Given the description of an element on the screen output the (x, y) to click on. 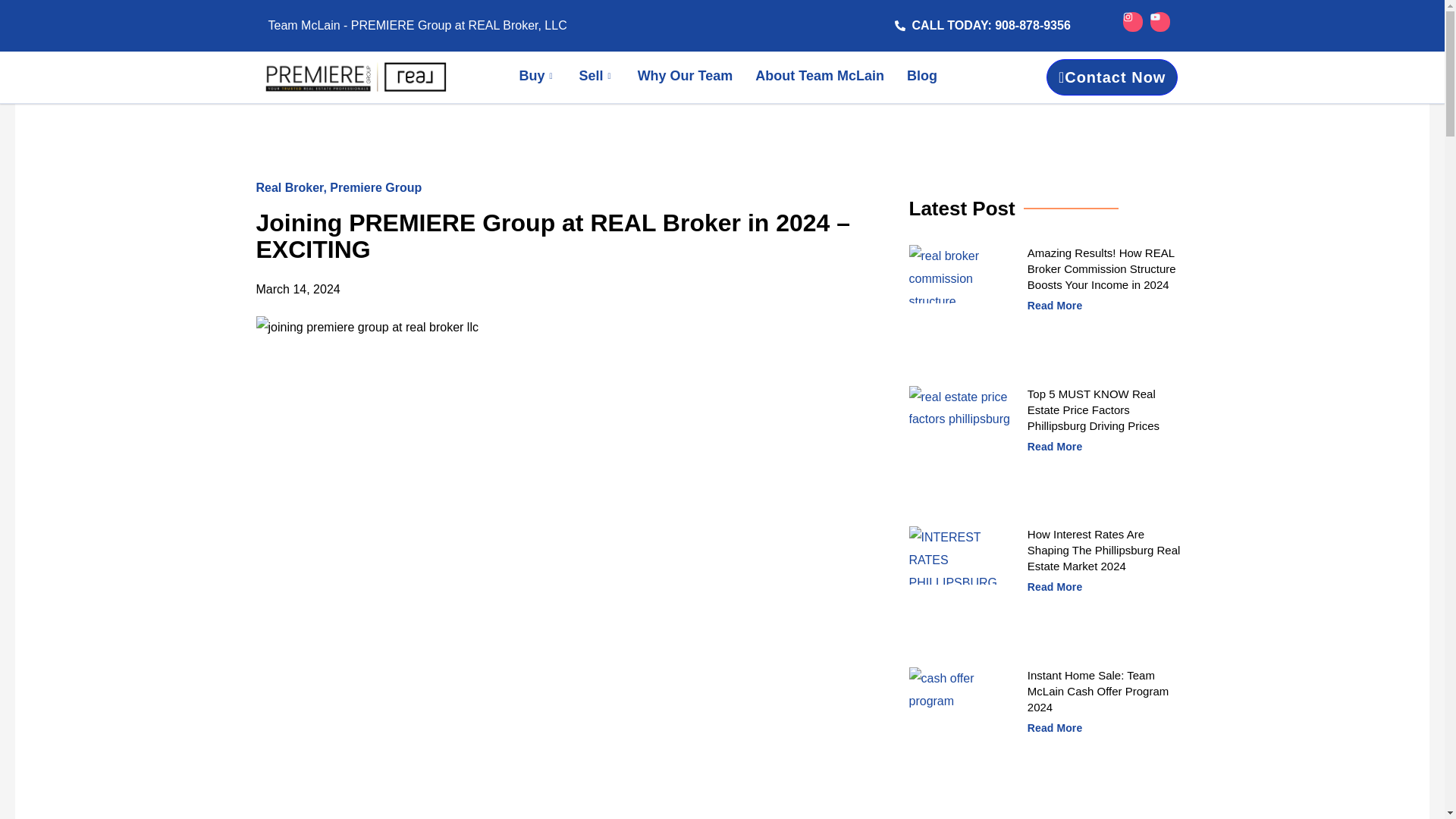
Team McLain - PREMIERE Group at REAL Broker, LLC (441, 25)
Instagram (1132, 21)
Youtube (1160, 21)
Why Our Team (685, 76)
Real Broker (289, 187)
Premiere Group (376, 187)
Sell (596, 76)
Blog (922, 76)
About Team McLain (819, 76)
Contact Now (1111, 76)
